Given the description of an element on the screen output the (x, y) to click on. 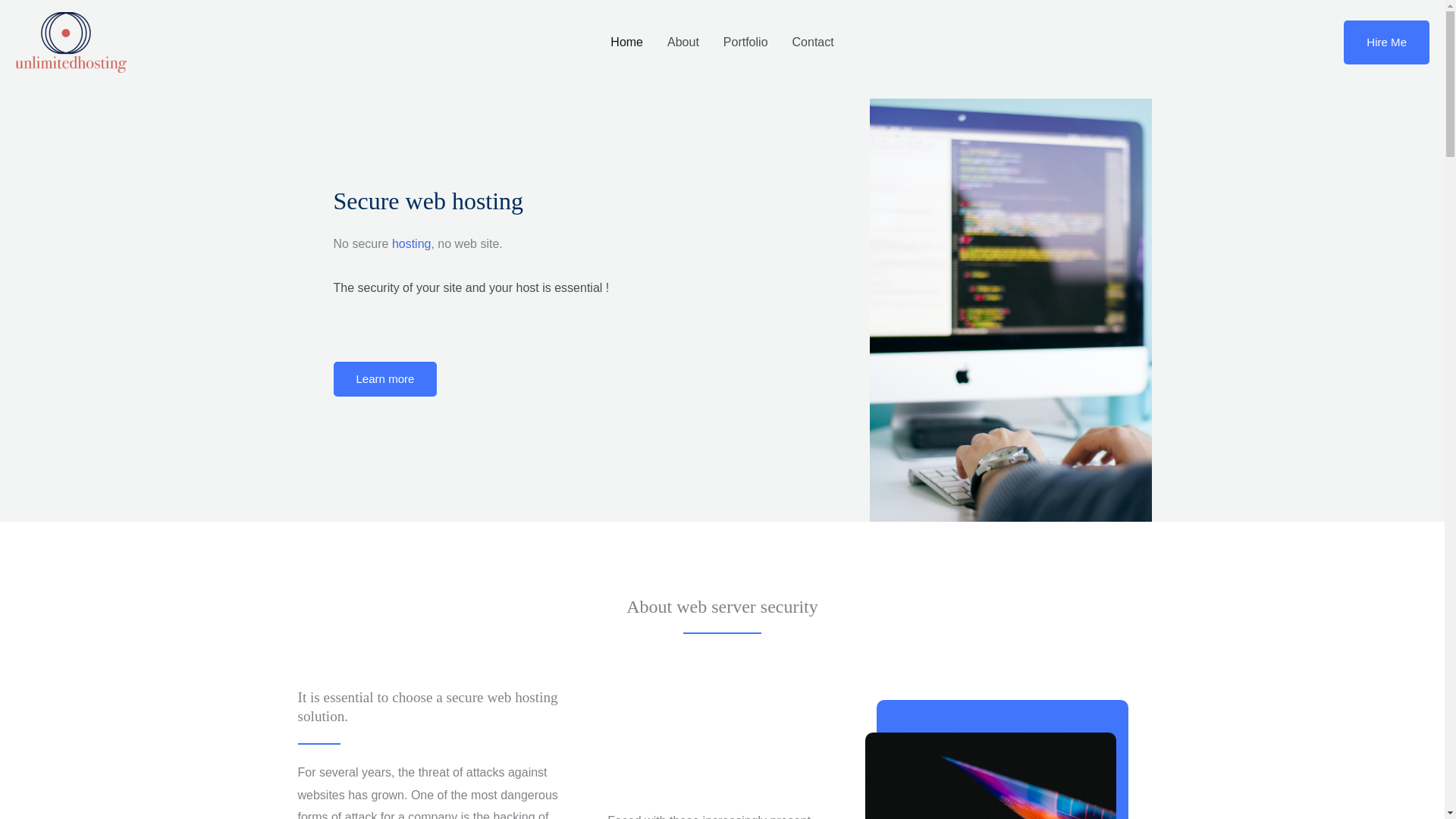
hosting (410, 243)
Contact (812, 41)
Home (626, 41)
Learn more (385, 378)
Portfolio (745, 41)
About (683, 41)
Hire Me (1386, 42)
